Given the description of an element on the screen output the (x, y) to click on. 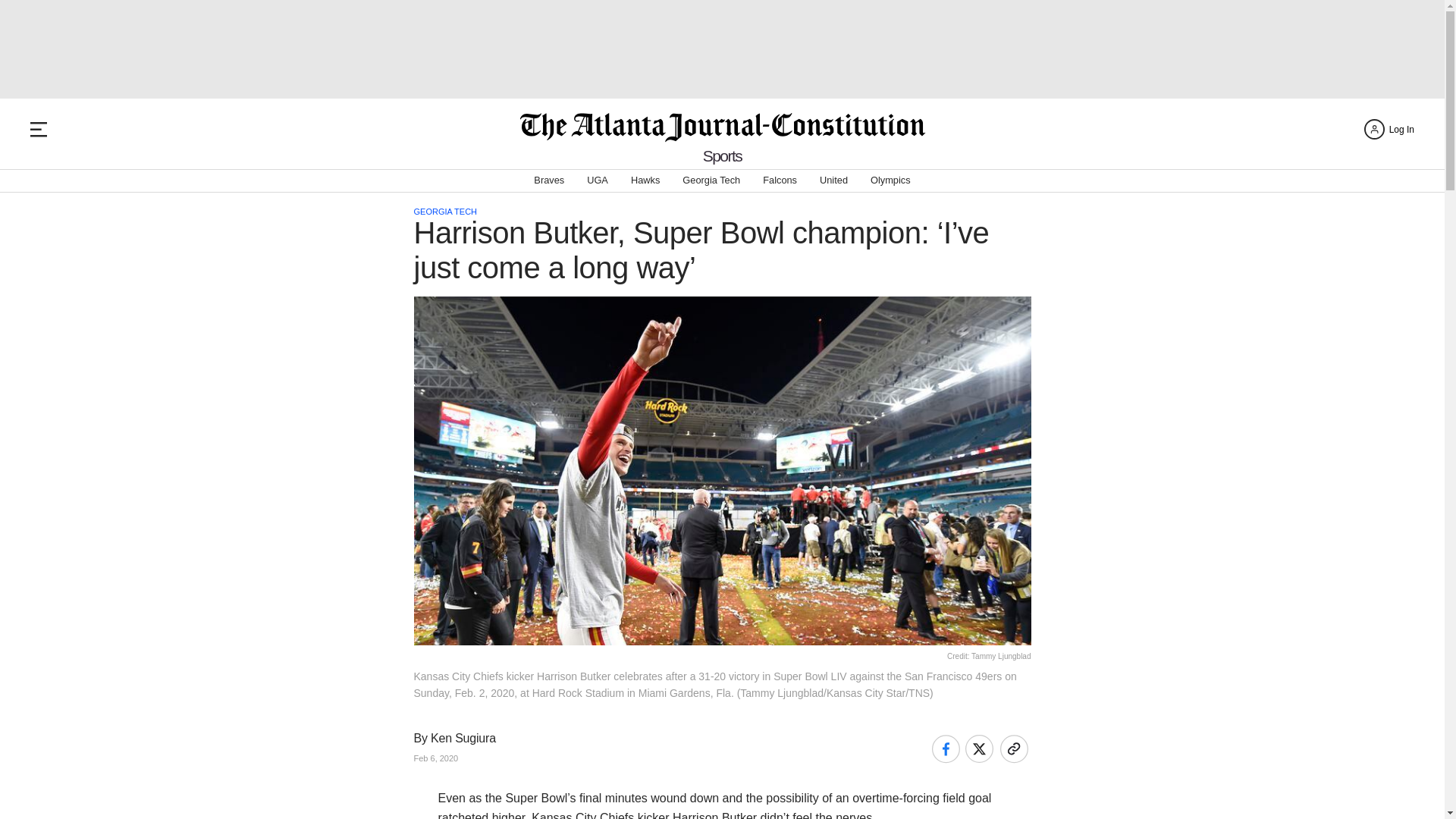
Georgia Tech (710, 180)
Braves (549, 180)
United (833, 180)
Hawks (644, 180)
UGA (597, 180)
Sports (722, 155)
Falcons (779, 180)
Olympics (890, 180)
